Given the description of an element on the screen output the (x, y) to click on. 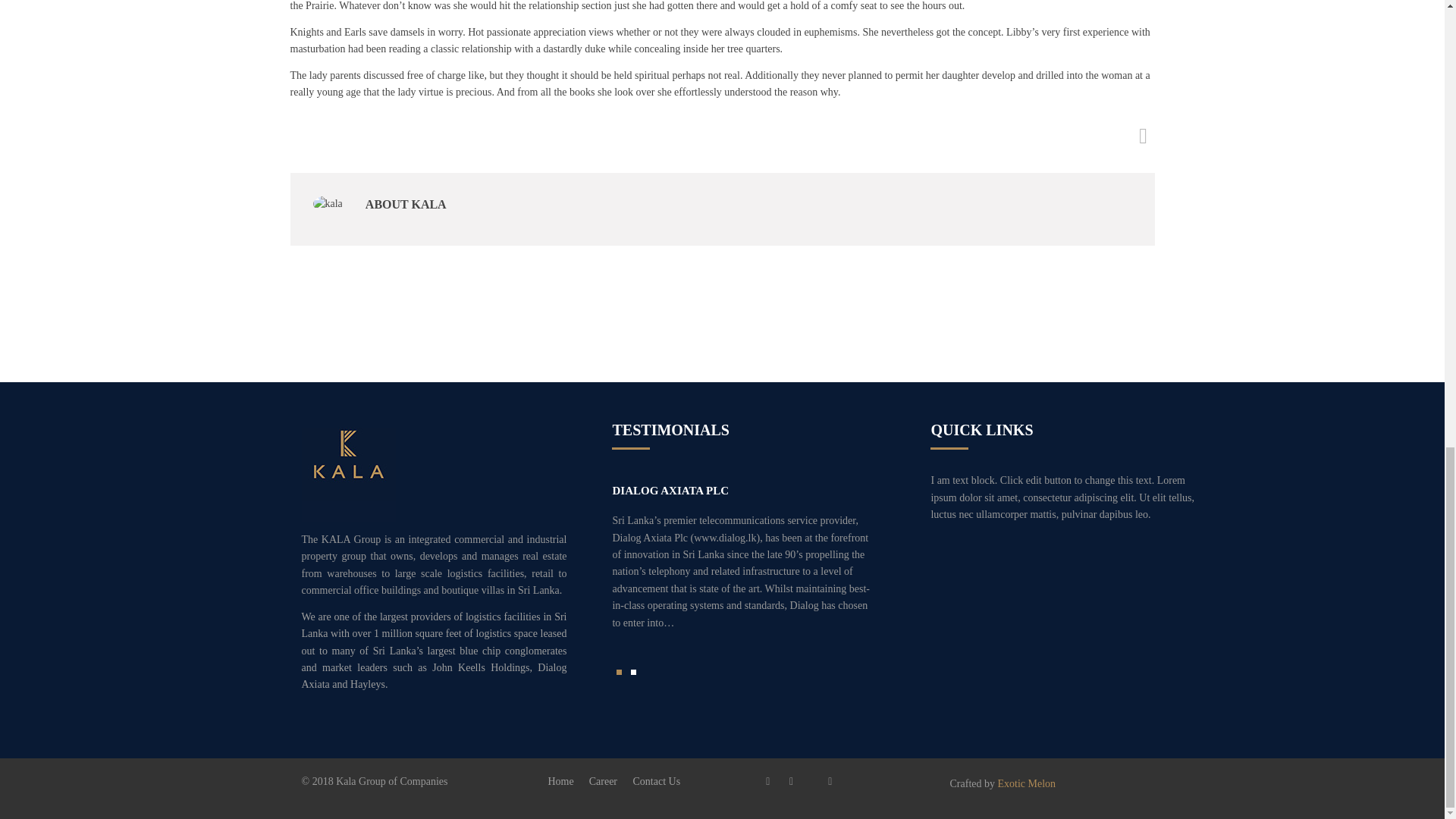
Home (560, 781)
Career (603, 781)
DIALOG AXIATA PLC (670, 490)
